Given the description of an element on the screen output the (x, y) to click on. 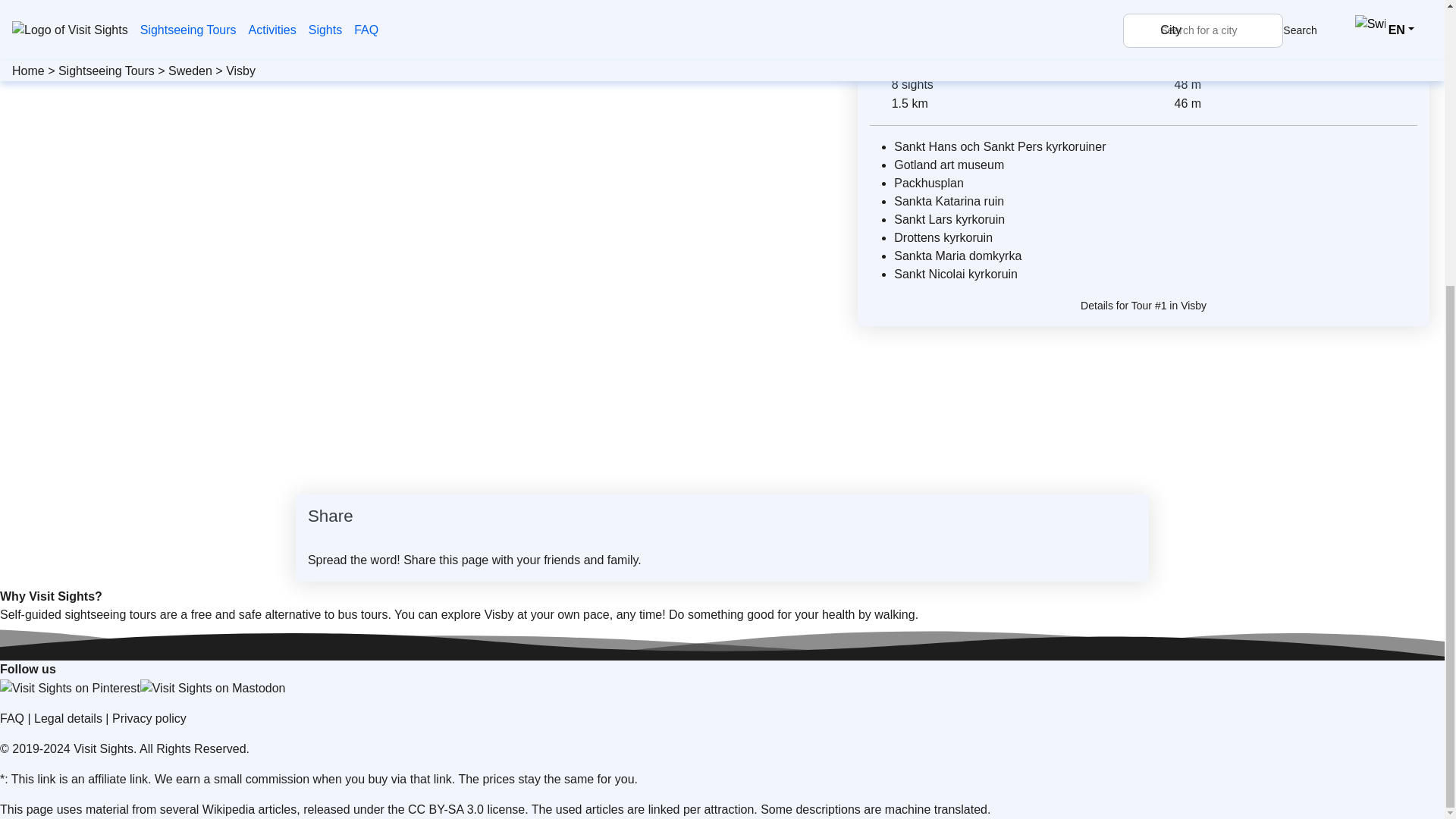
Legal details (67, 717)
Visit Sights on Mastodon (212, 688)
FAQ (12, 717)
Show tour on map (1216, 42)
Visit Sights on Pinterest (69, 688)
Privacy policy (149, 717)
CC BY-SA 3.0 (445, 809)
Distance (878, 104)
Descend (1161, 104)
Ascend (1161, 85)
